Given the description of an element on the screen output the (x, y) to click on. 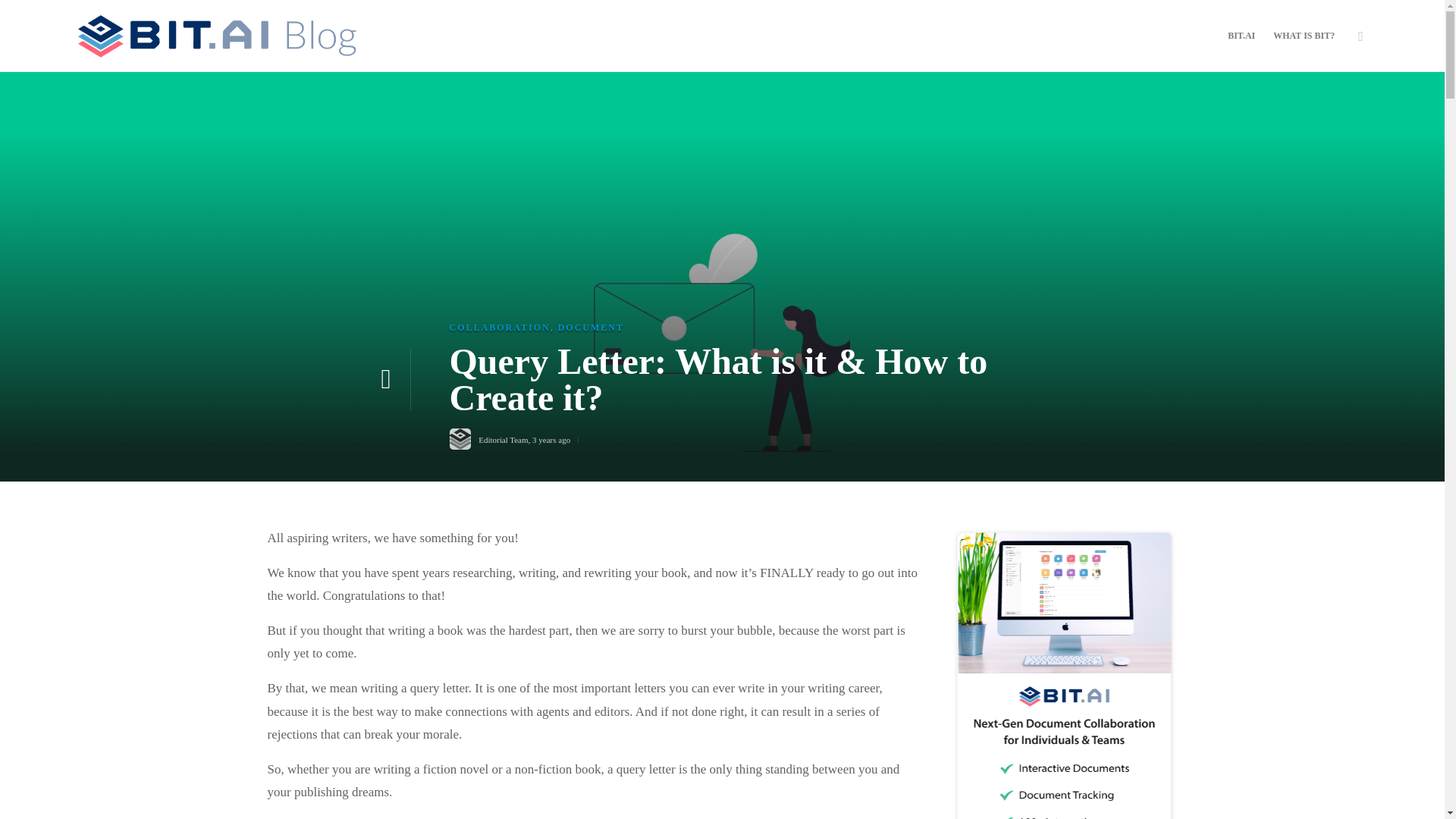
COLLABORATION (499, 326)
WHAT IS BIT? (1303, 35)
3 years ago (551, 439)
Editorial Team (503, 439)
DOCUMENT (590, 326)
